Given the description of an element on the screen output the (x, y) to click on. 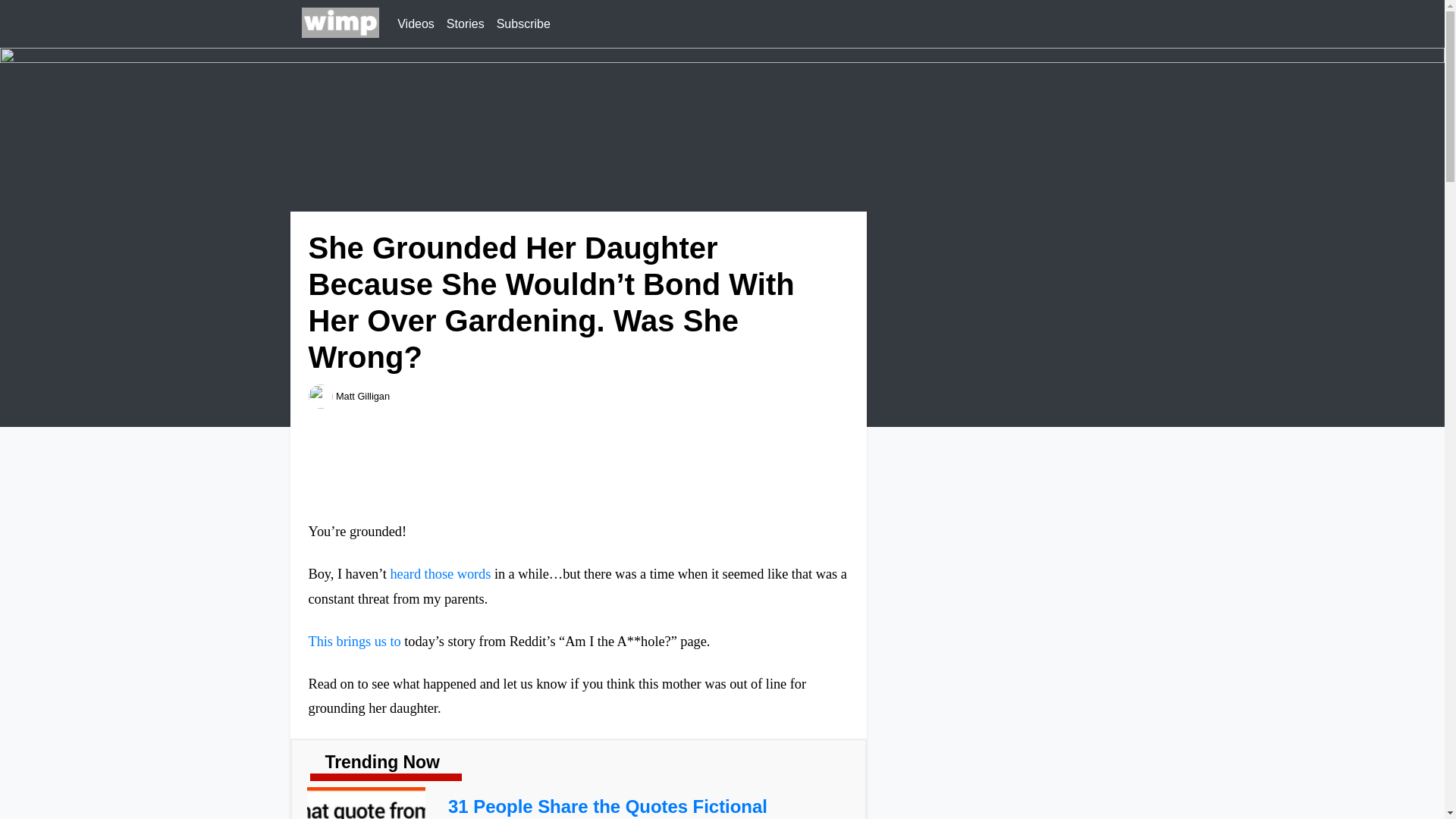
Stories (465, 24)
Subscribe (523, 24)
Matt Gilligan (363, 396)
Videos (416, 24)
This brings us to (353, 641)
heard those words (440, 573)
Posts by Matt Gilligan (363, 396)
Wimp (340, 23)
